Given the description of an element on the screen output the (x, y) to click on. 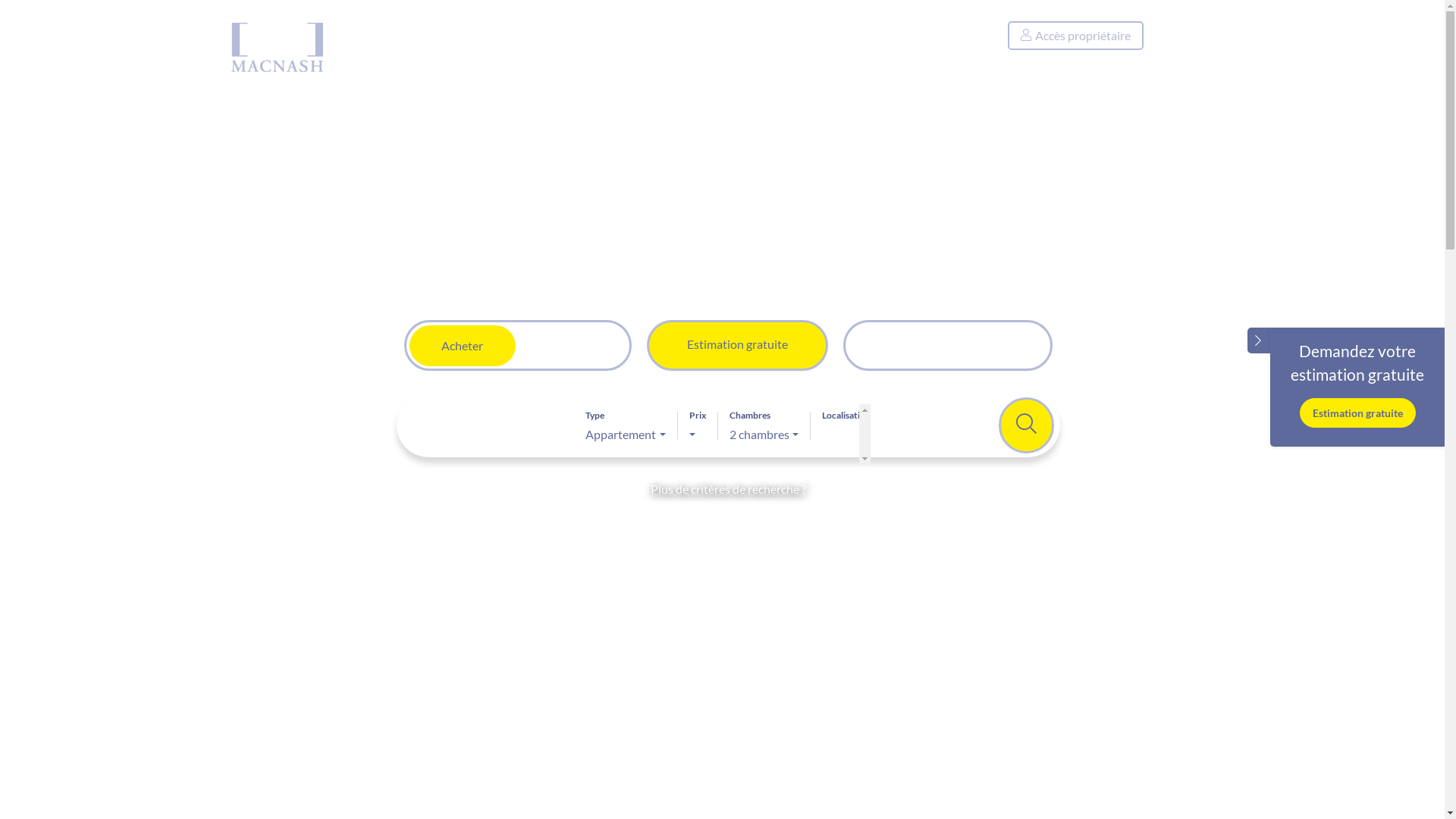
Nos offres par e-mail Element type: text (947, 345)
CONTACT Element type: text (856, 58)
FR Element type: text (1183, 36)
Estimation gratuite Element type: text (736, 345)
NOS AGENCES Element type: text (753, 58)
Appartement Element type: text (625, 434)
SYNDIC/GESTION Element type: text (627, 58)
2 chambres Element type: text (763, 434)
VENDRE / LOUER Element type: text (494, 58)
Estimation gratuite Element type: text (1357, 412)
